Given the description of an element on the screen output the (x, y) to click on. 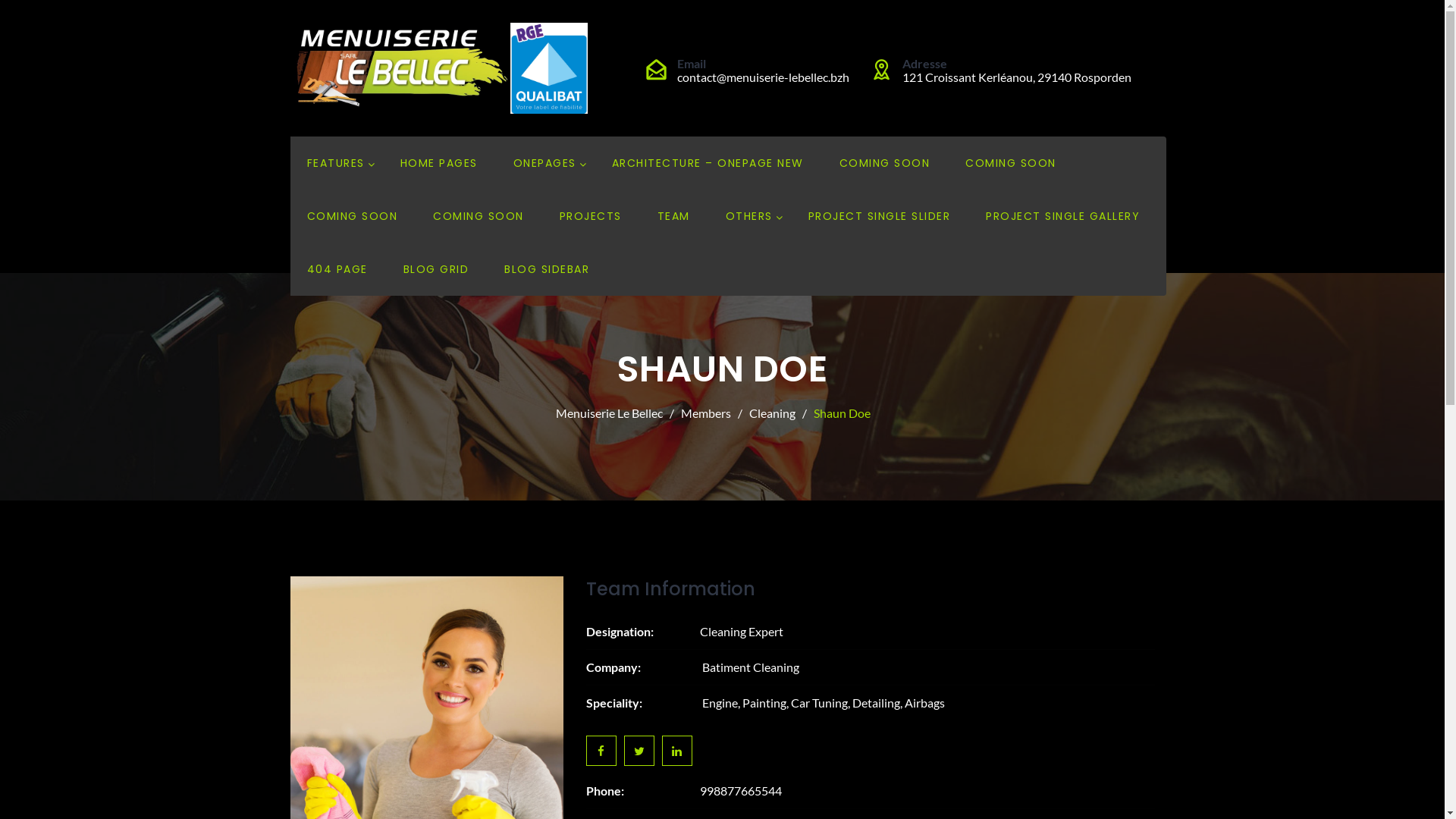
PROJECTS Element type: text (590, 215)
BLOG GRID Element type: text (436, 268)
PROJECT SINGLE GALLERY Element type: text (1062, 215)
COMING SOON Element type: text (478, 215)
404 PAGE Element type: text (336, 268)
Menuiserie Le Bellec Element type: text (613, 411)
COMING SOON Element type: text (883, 162)
PROJECT SINGLE SLIDER Element type: text (879, 215)
COMING SOON Element type: text (351, 215)
ONEPAGES Element type: text (543, 162)
FEATURES Element type: text (334, 162)
Members Element type: text (710, 411)
OTHERS Element type: text (747, 215)
BLOG SIDEBAR Element type: text (546, 268)
HOME PAGES Element type: text (438, 162)
COMING SOON Element type: text (1010, 162)
Cleaning Element type: text (776, 411)
contact@menuiserie-lebellec.bzh Element type: text (763, 76)
TEAM Element type: text (672, 215)
